Given the description of an element on the screen output the (x, y) to click on. 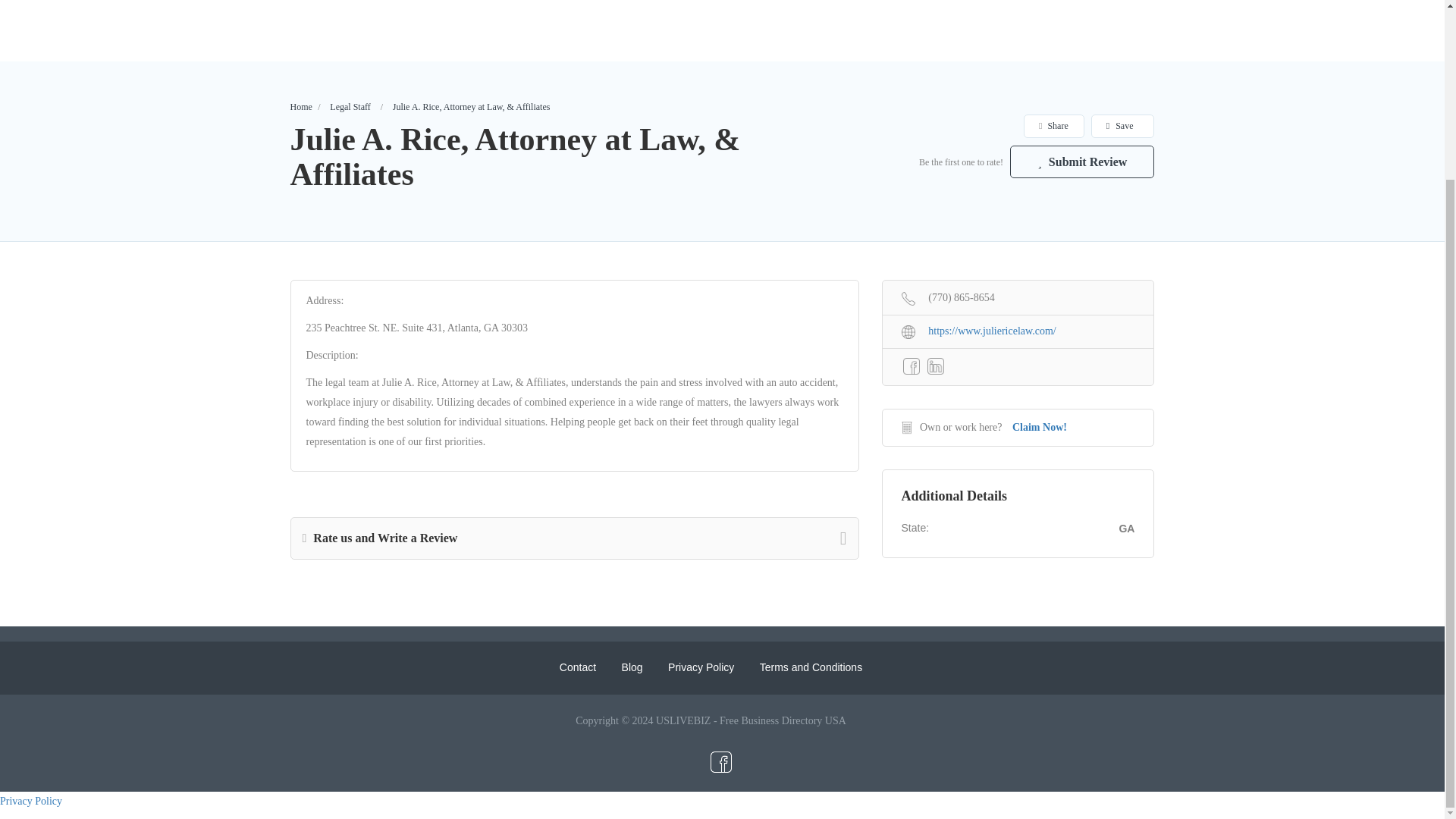
Advertisement (721, 27)
Share (1053, 126)
Submit Review (1082, 161)
Submit (413, 283)
Legal Staff (349, 106)
Home (300, 106)
Sign in (721, 245)
Save (1122, 126)
